Given the description of an element on the screen output the (x, y) to click on. 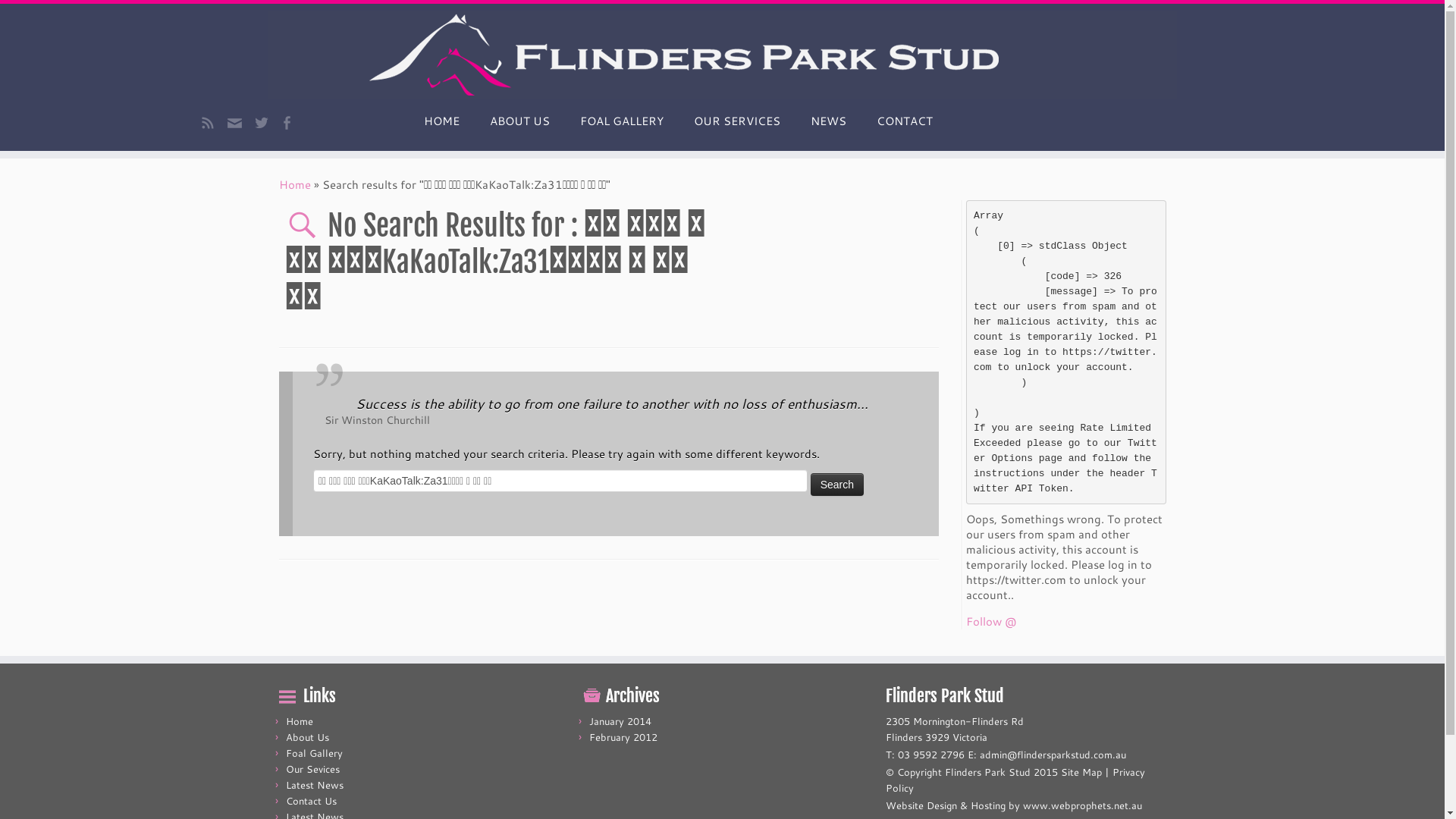
Follow @ Element type: text (991, 621)
Latest News Element type: text (313, 784)
Subscribe to my rss feed Element type: hover (212, 124)
Follow me on Facebook Element type: hover (291, 124)
Home Element type: text (298, 721)
Foal Gallery Element type: text (313, 752)
ABOUT US Element type: text (519, 120)
 |  Element type: hover (722, 54)
HOME Element type: text (441, 120)
Search Element type: text (836, 484)
Website Design Element type: text (921, 805)
Contact Us Element type: text (310, 800)
Our Sevices Element type: text (311, 768)
www.webprophets.net.au Element type: text (1081, 805)
About Us Element type: text (306, 736)
admin@flindersparkstud.com.au Element type: text (1052, 754)
Home Element type: text (294, 184)
Follow me on Twitter Element type: hover (266, 124)
January 2014 Element type: text (619, 721)
February 2012 Element type: text (622, 736)
Privacy Policy Element type: text (1015, 779)
NEWS Element type: text (828, 120)
Hosting Element type: text (987, 805)
FOAL GALLERY Element type: text (621, 120)
OUR SERVICES Element type: text (736, 120)
CONTACT Element type: text (896, 120)
Site Map Element type: text (1080, 771)
E-mail Element type: hover (239, 126)
